Given the description of an element on the screen output the (x, y) to click on. 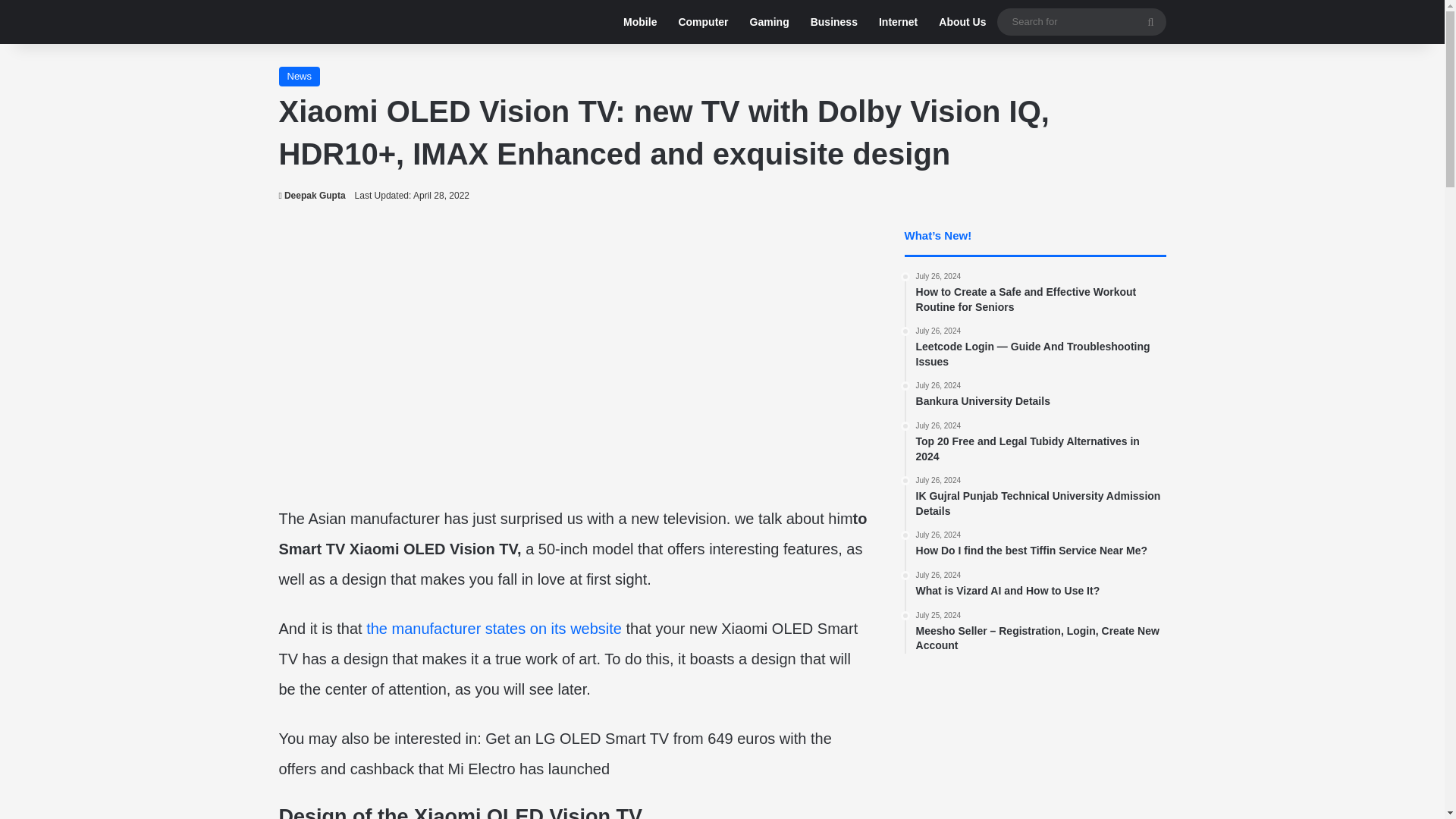
About Us (1040, 584)
Search for (961, 22)
Gaming (1150, 22)
News (769, 22)
Deepak Gupta (1040, 544)
Search for (299, 76)
Business (312, 195)
the manufacturer states on its website (1080, 21)
Mobile (833, 22)
Deepak Gupta (493, 628)
